Given the description of an element on the screen output the (x, y) to click on. 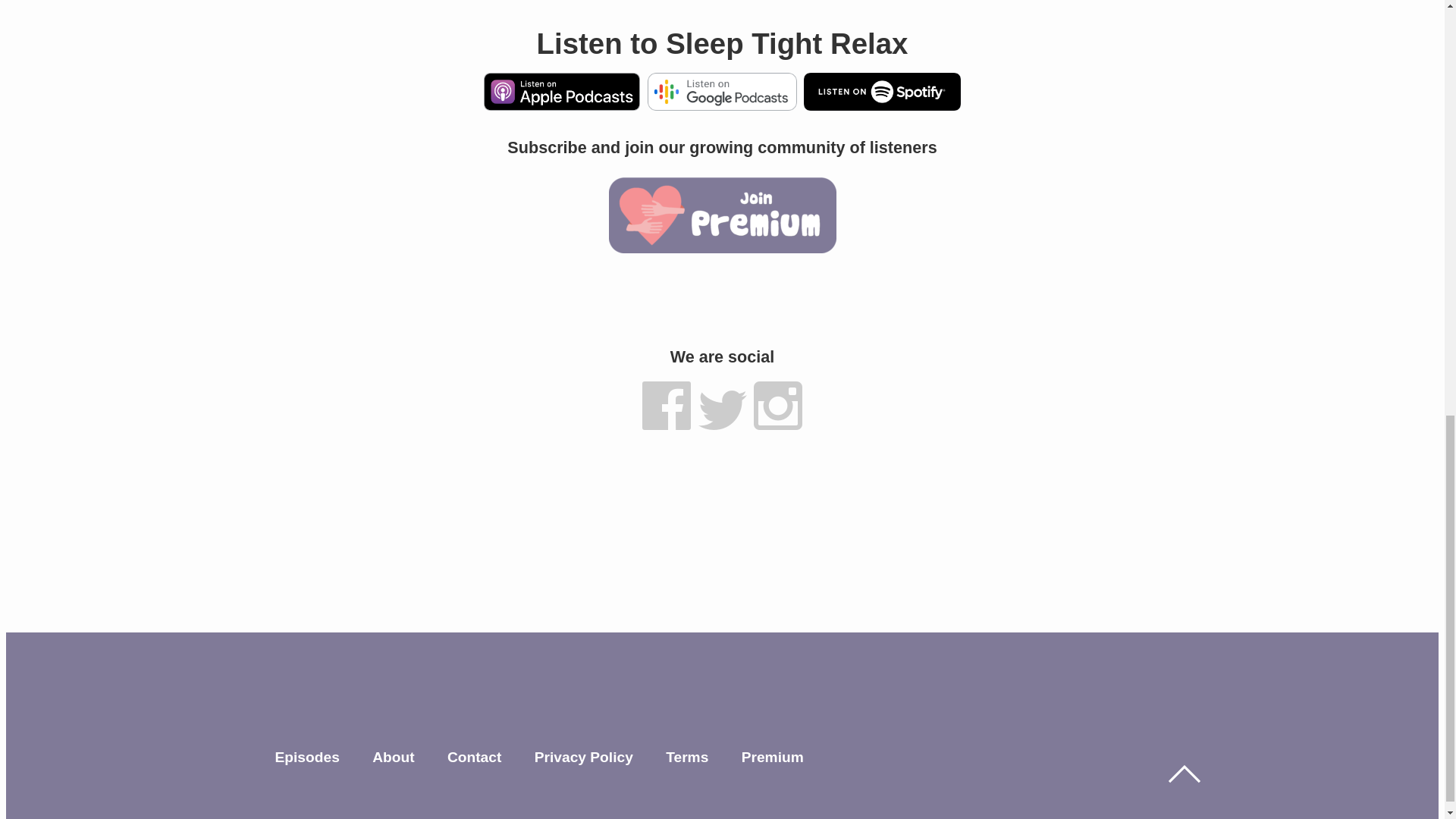
Top (1183, 773)
Contact (473, 756)
Premium (772, 756)
Privacy Policy (583, 756)
Episodes (307, 756)
Terms (686, 756)
Listen to Sleep Tight Relax on Apple Podcasts (561, 105)
Listen to Sleep Tight Relax on Spotify (881, 105)
Listen to Sleep Tight Relax on Google Podcasts (721, 105)
About (392, 756)
